Given the description of an element on the screen output the (x, y) to click on. 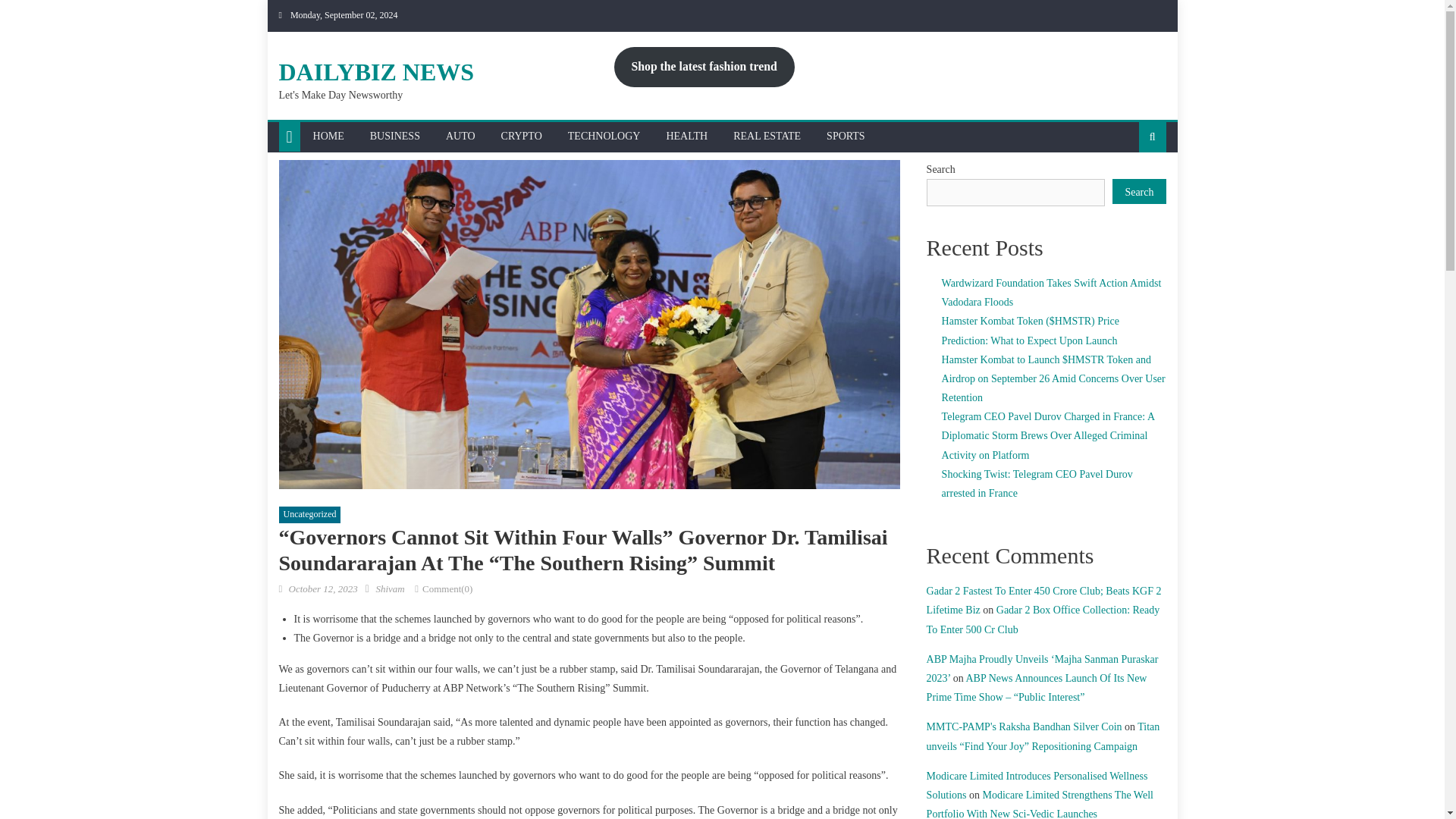
Shop the latest fashion trend (704, 66)
HOME (328, 136)
Search (1128, 185)
BUSINESS (394, 136)
October 12, 2023 (322, 588)
REAL ESTATE (767, 136)
TECHNOLOGY (604, 136)
AUTO (459, 136)
HEALTH (686, 136)
DAILYBIZ NEWS (376, 71)
